Given the description of an element on the screen output the (x, y) to click on. 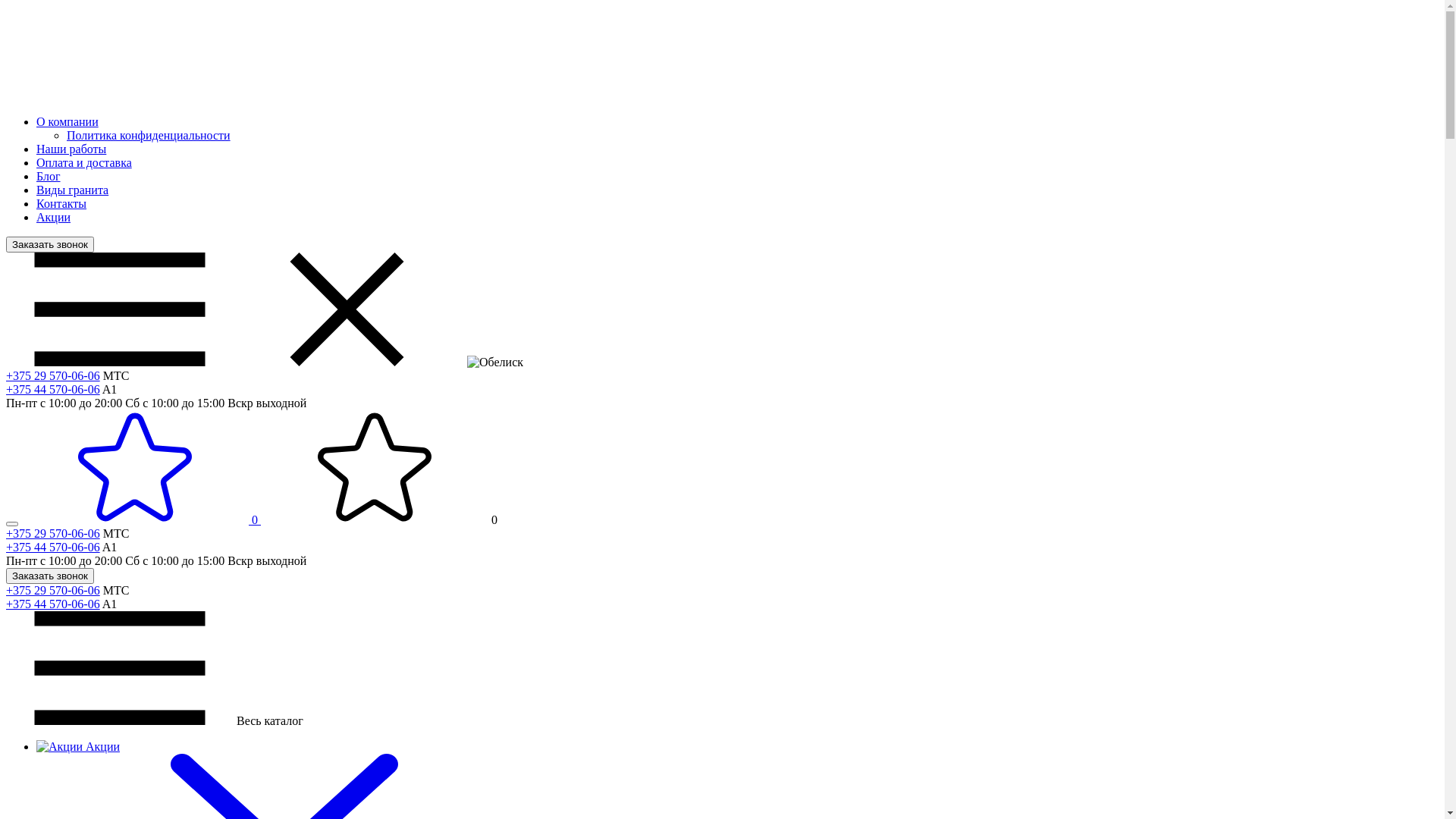
0 Element type: text (140, 519)
+375 44 570-06-06 Element type: text (53, 546)
+375 29 570-06-06 Element type: text (53, 533)
+375 44 570-06-06 Element type: text (53, 603)
+375 29 570-06-06 Element type: text (53, 589)
+375 29 570-06-06 Element type: text (53, 375)
+375 44 570-06-06 Element type: text (53, 388)
